Given the description of an element on the screen output the (x, y) to click on. 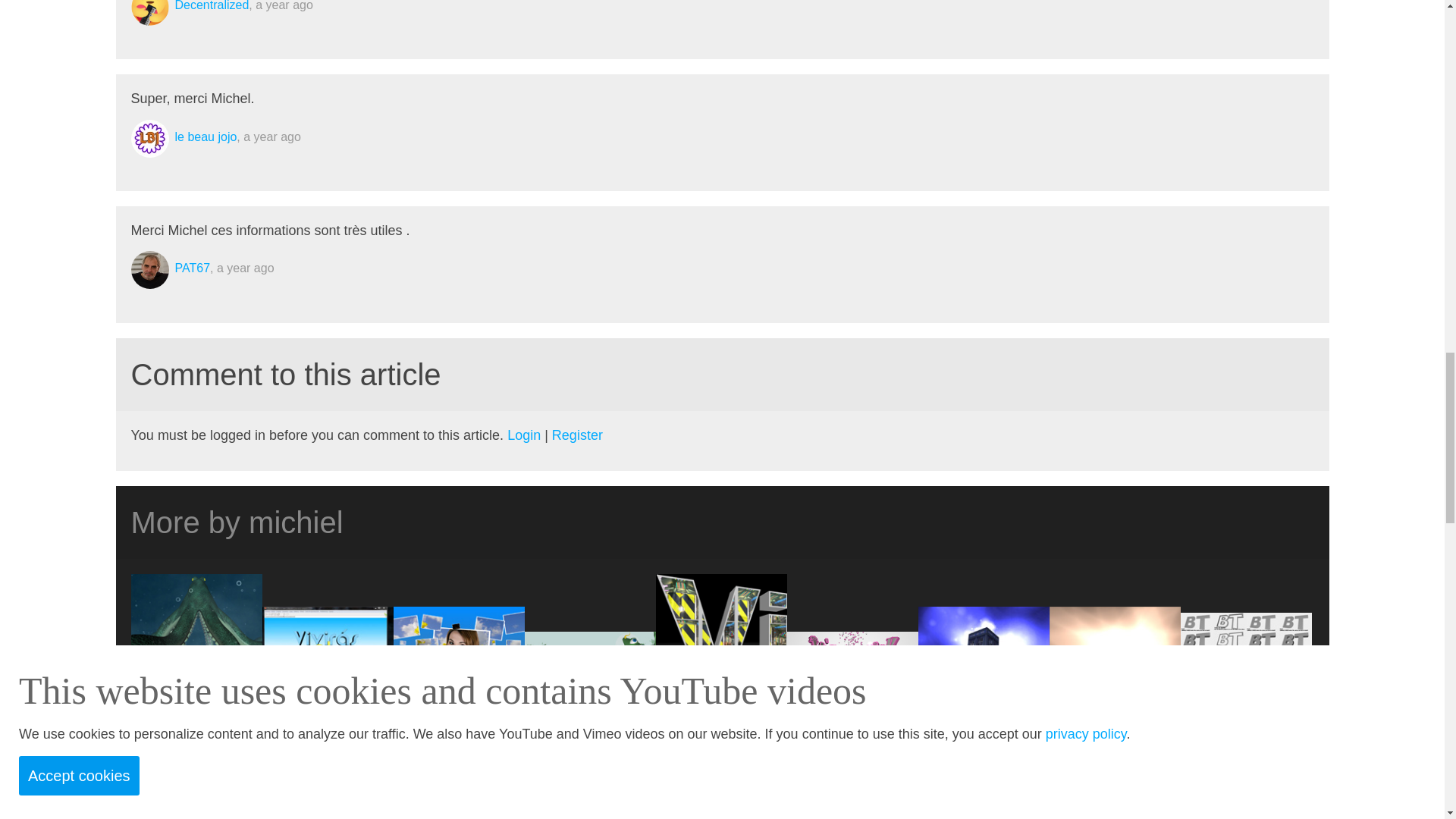
Video intro template using interiormap by Vincent (720, 694)
TARDIS (982, 694)
Photo collage effect (458, 694)
BixPack 29 - Sea Monsters launched! (196, 694)
Alien invasion (590, 694)
It's a girl! (852, 694)
Text Styles Mega Picture (1245, 694)
The Island Of Dr. Bix (1114, 694)
Tutorial Blufftitler texto animado y transparencias (327, 694)
